Given the description of an element on the screen output the (x, y) to click on. 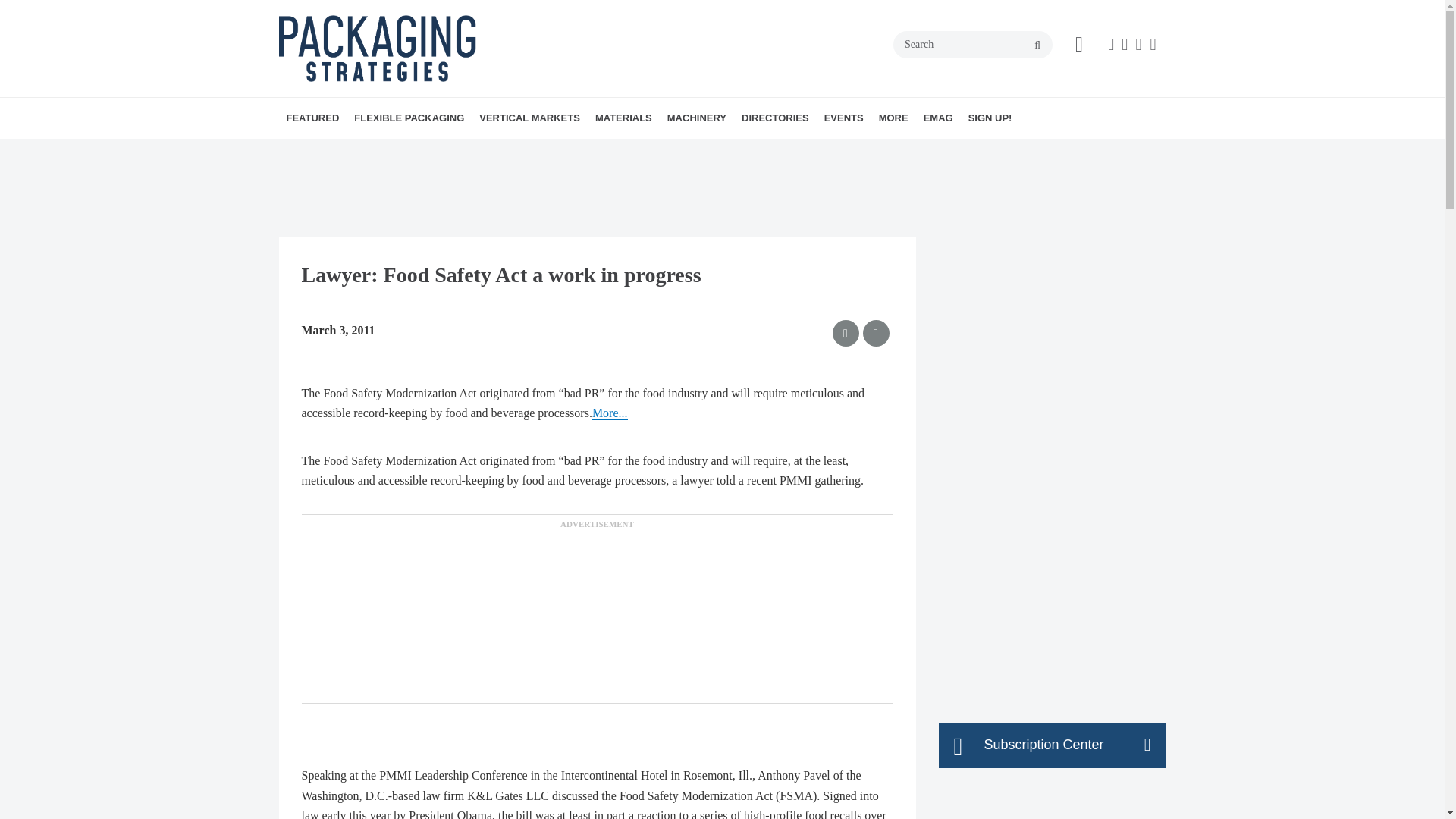
SUPPLY SIDE (405, 150)
PET FOOD PACKAGING (606, 150)
PACKAGING PERSPECTIVES PODCASTS (373, 159)
PRODUCE PACKAGING (611, 150)
BRAND PACKAGING (384, 150)
DAIRY FOOD PACKAGING (589, 150)
FOOD SERVICE PACKAGING (592, 150)
search (1037, 45)
PACKAGING NEWS (389, 150)
VERTICAL MARKETS (529, 117)
